Given the description of an element on the screen output the (x, y) to click on. 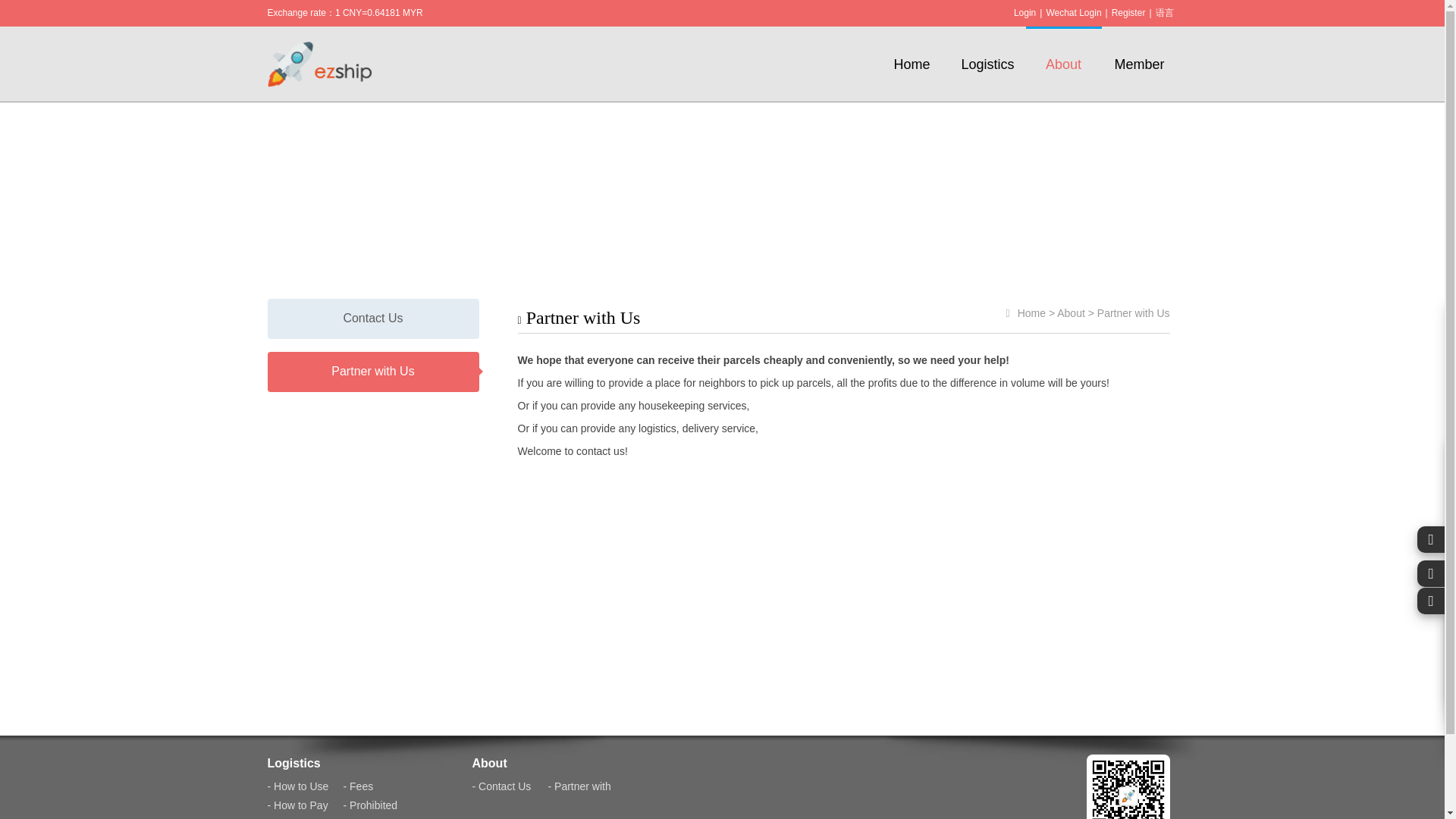
- How to Use (297, 786)
Wechat Login (1072, 13)
- Fees (357, 786)
About (1070, 313)
Logistics (293, 762)
About (488, 762)
Member (1138, 52)
About (1062, 52)
Partner with Us (1133, 313)
- Contact Us (501, 786)
Partner with Us (372, 372)
Logistics (987, 52)
Update hourly (344, 26)
Register (1128, 13)
Home (911, 52)
